Given the description of an element on the screen output the (x, y) to click on. 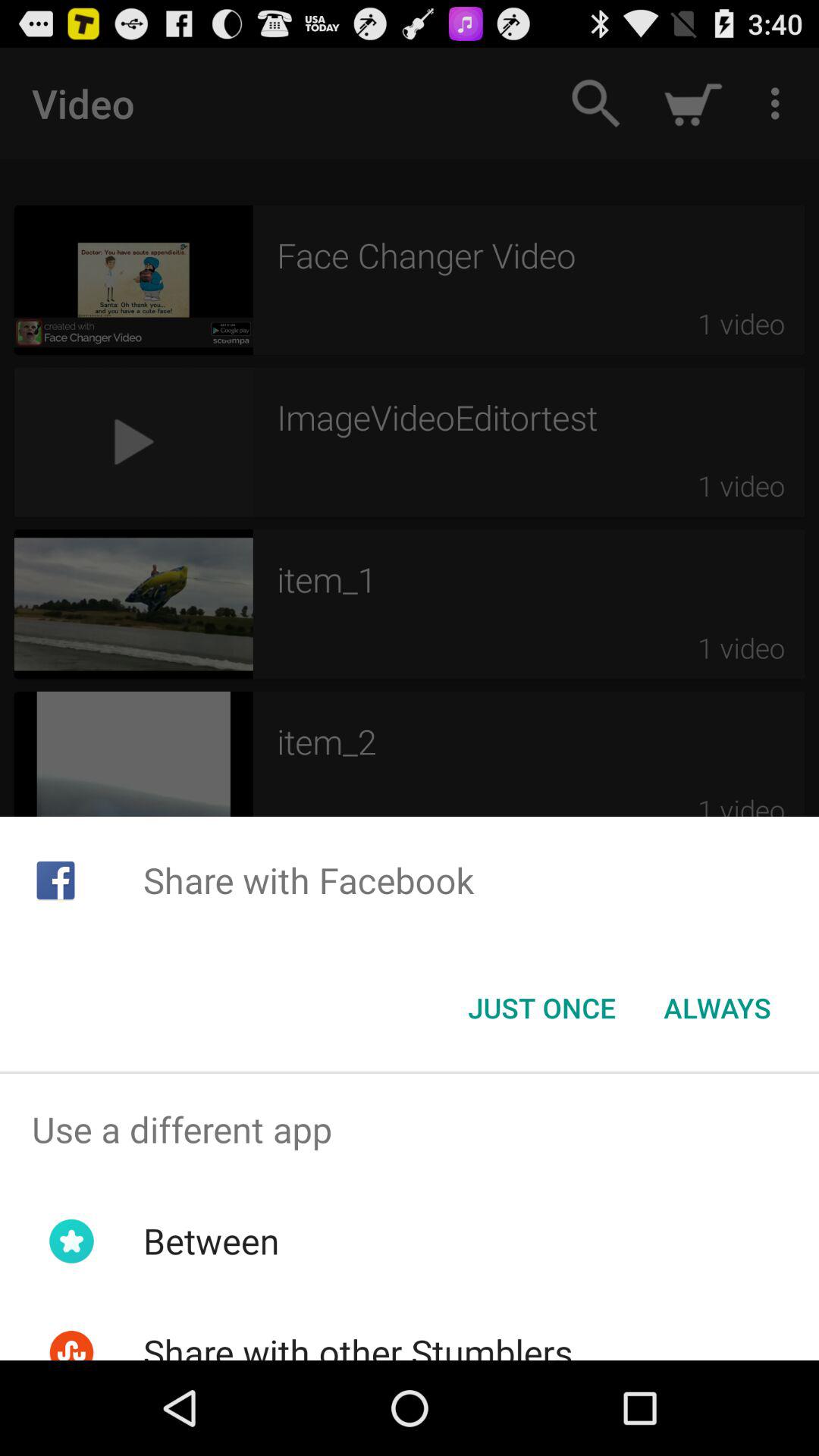
scroll to the between app (211, 1240)
